Given the description of an element on the screen output the (x, y) to click on. 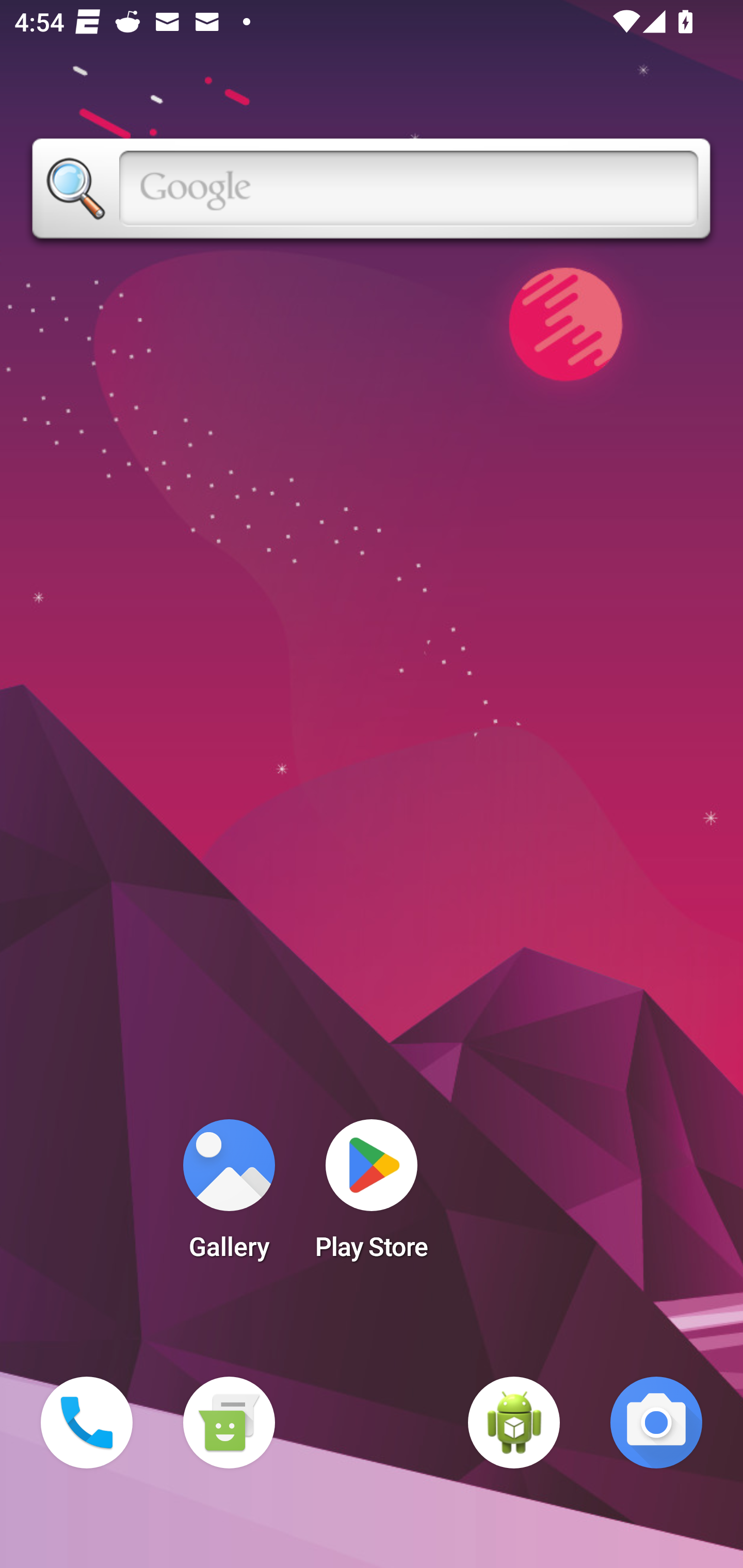
Gallery (228, 1195)
Play Store (371, 1195)
Phone (86, 1422)
Messaging (228, 1422)
WebView Browser Tester (513, 1422)
Camera (656, 1422)
